Given the description of an element on the screen output the (x, y) to click on. 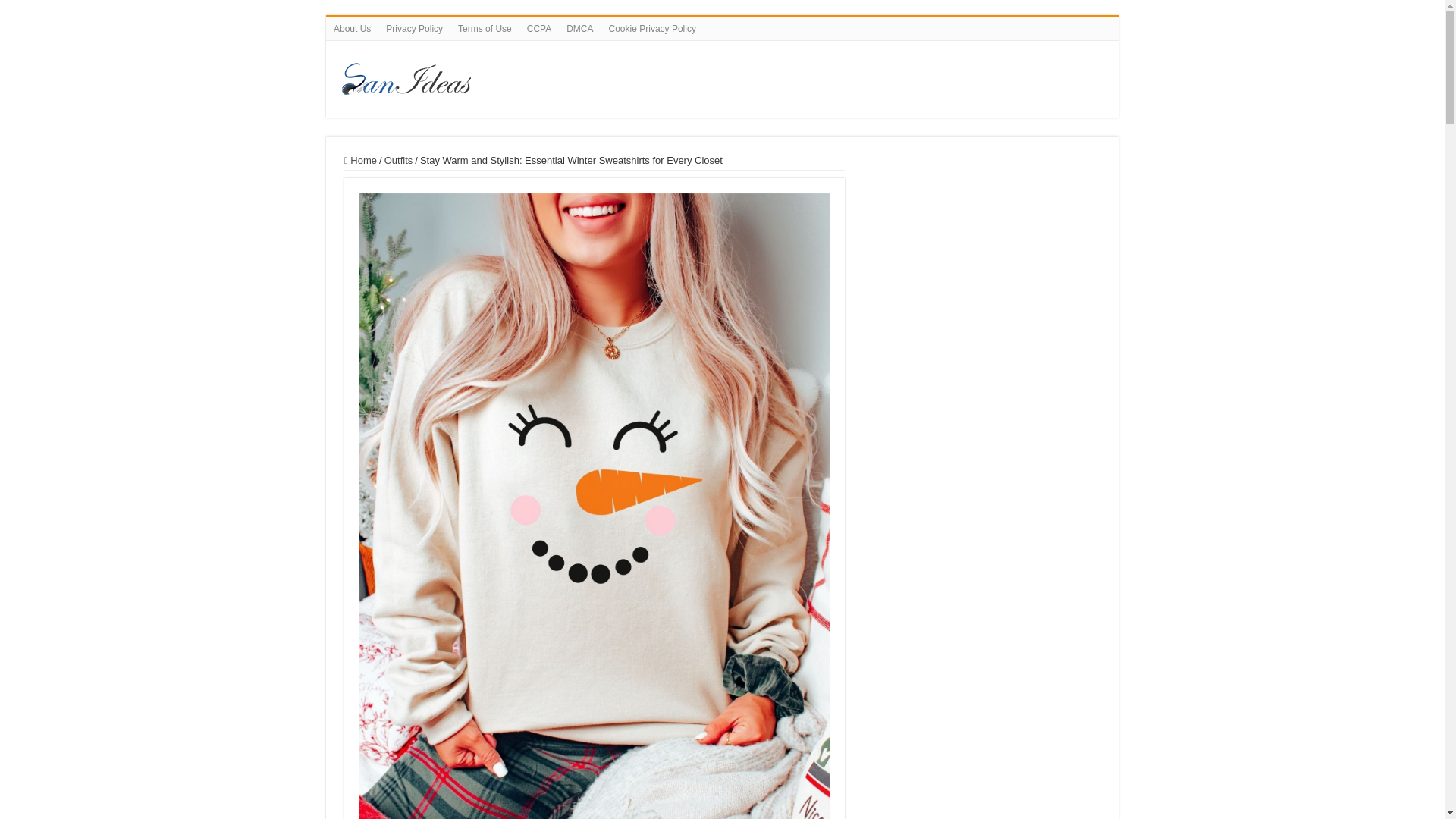
Home (360, 160)
Cookie Privacy Policy (652, 28)
About Us (352, 28)
Privacy Policy (413, 28)
DMCA (579, 28)
Advertisement (982, 248)
CCPA (539, 28)
Outfits (398, 160)
Terms of Use (484, 28)
sanideas.com (640, 76)
